Given the description of an element on the screen output the (x, y) to click on. 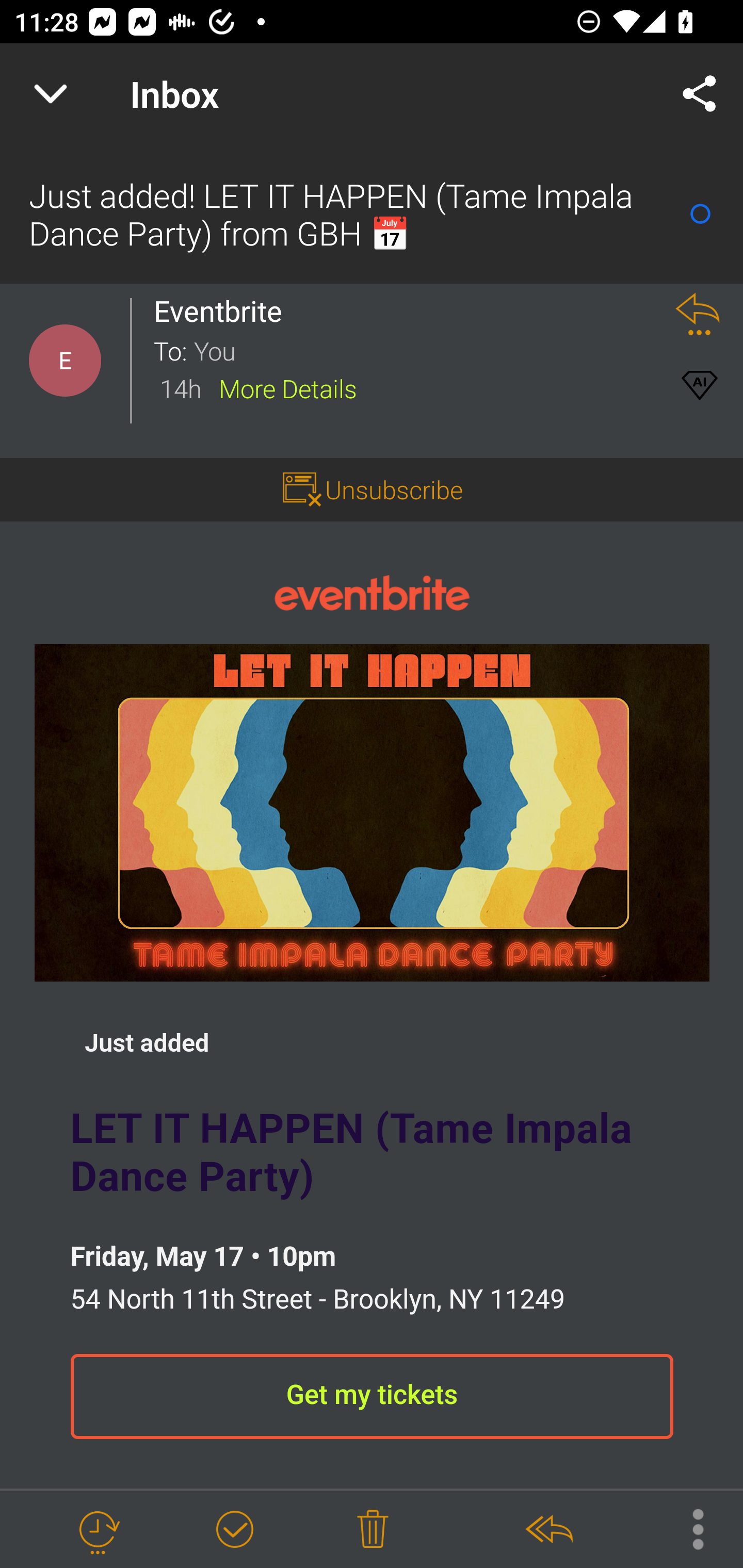
Navigate up (50, 93)
Share (699, 93)
Mark as Read (699, 213)
Eventbrite (222, 310)
Contact Details (64, 360)
Rate us now (257, 370)
Unsubscribe (371, 489)
Eventbrite (371, 592)
LET IT HAPPEN (Tame Impala Dance Party) (371, 811)
LET IT HAPPEN (Tame Impala Dance Party) (371, 1153)
Get my tickets (371, 1396)
Snooze (97, 1529)
Mark as Done (234, 1529)
Delete (372, 1529)
Reply All (548, 1529)
